Given the description of an element on the screen output the (x, y) to click on. 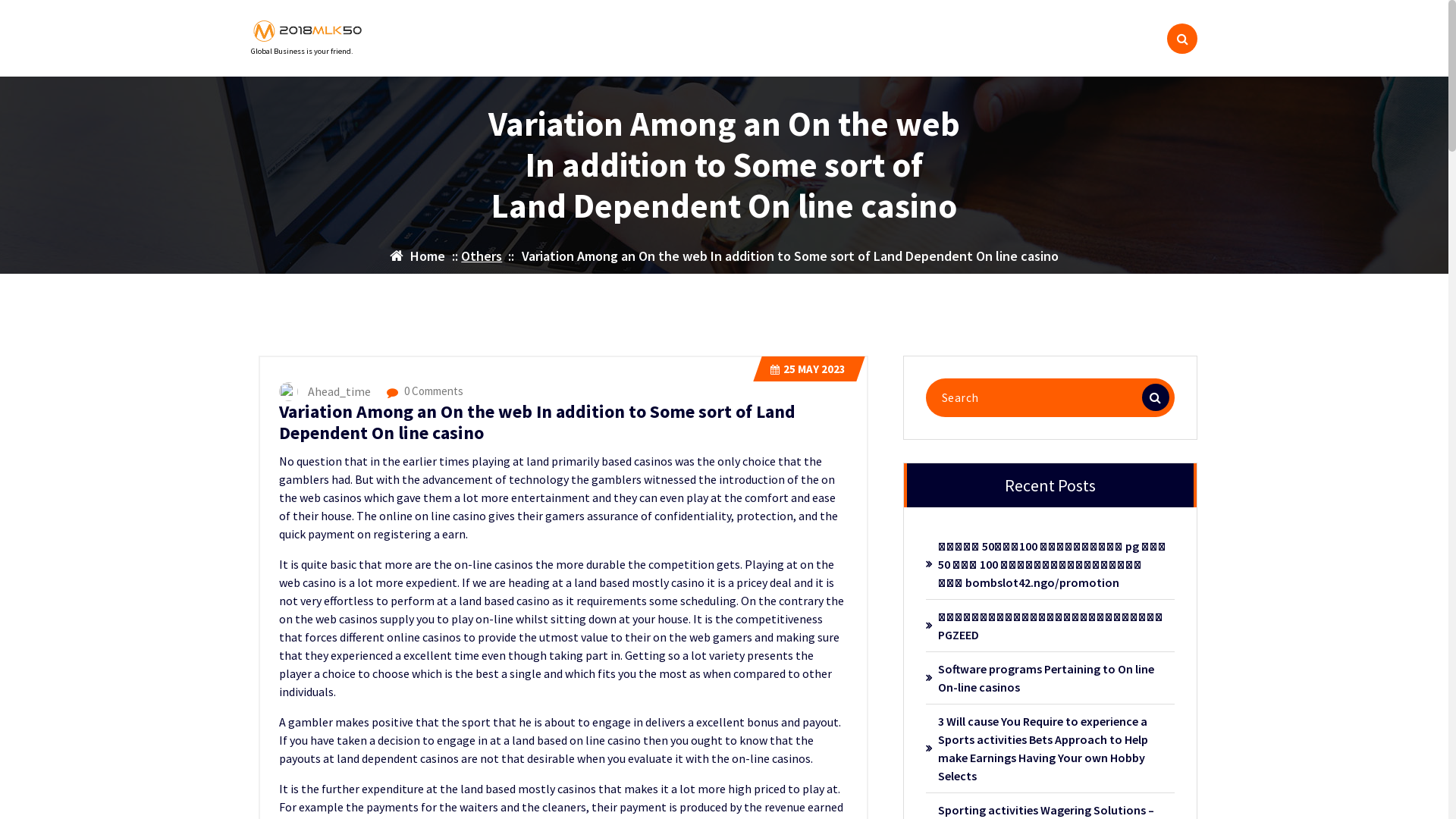
Ahead_Time Element type: text (328, 389)
Search Element type: text (1155, 397)
Others Element type: text (481, 255)
0 Comments Element type: text (424, 390)
25 MAY 2023 Element type: text (807, 368)
Software programs Pertaining to On line On-line casinos Element type: text (1052, 677)
